Given the description of an element on the screen output the (x, y) to click on. 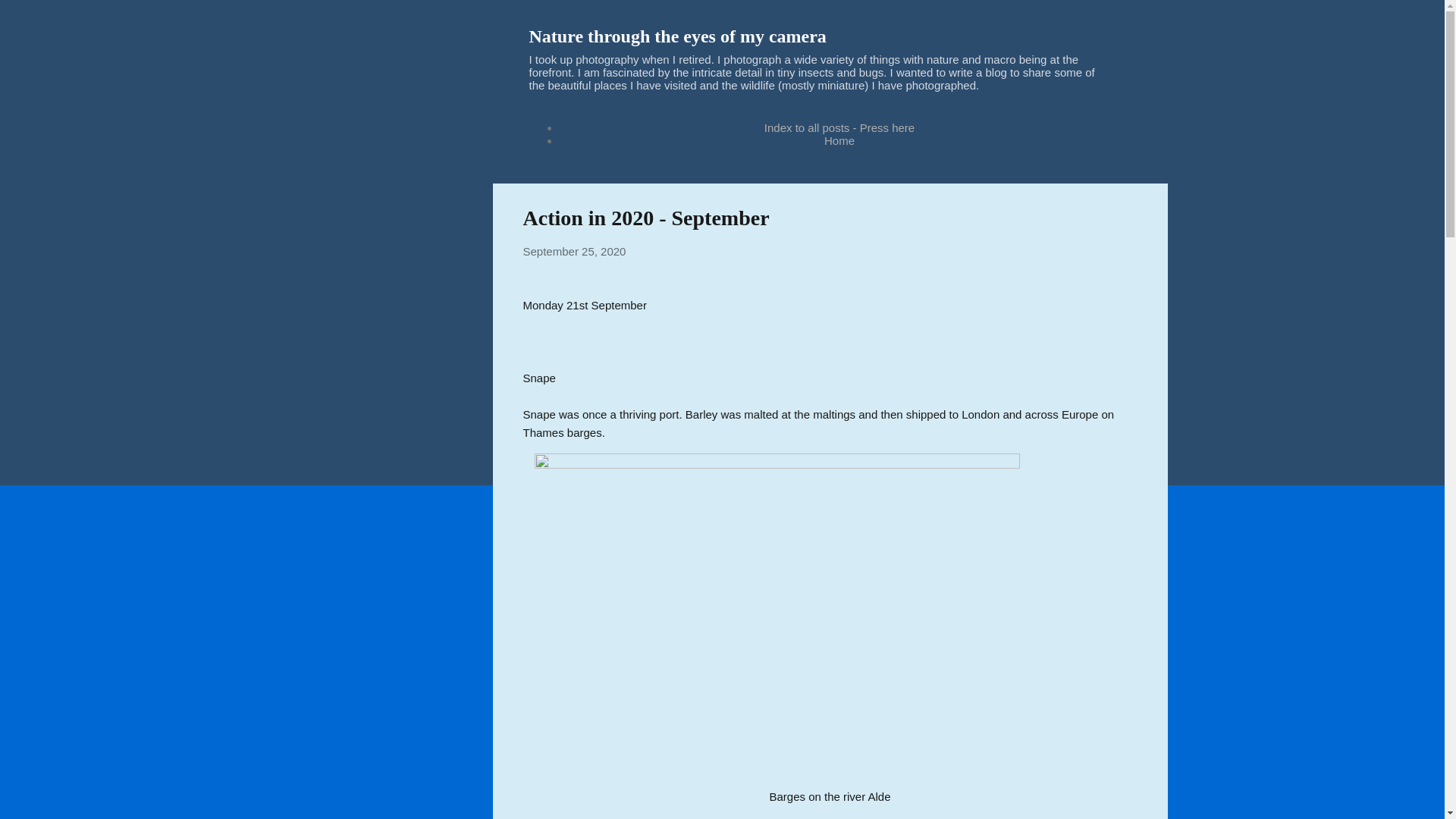
Index to all posts - Press here (839, 127)
September 25, 2020 (574, 250)
Search (29, 18)
permanent link (574, 250)
Nature through the eyes of my camera (678, 35)
Home (839, 140)
